Given the description of an element on the screen output the (x, y) to click on. 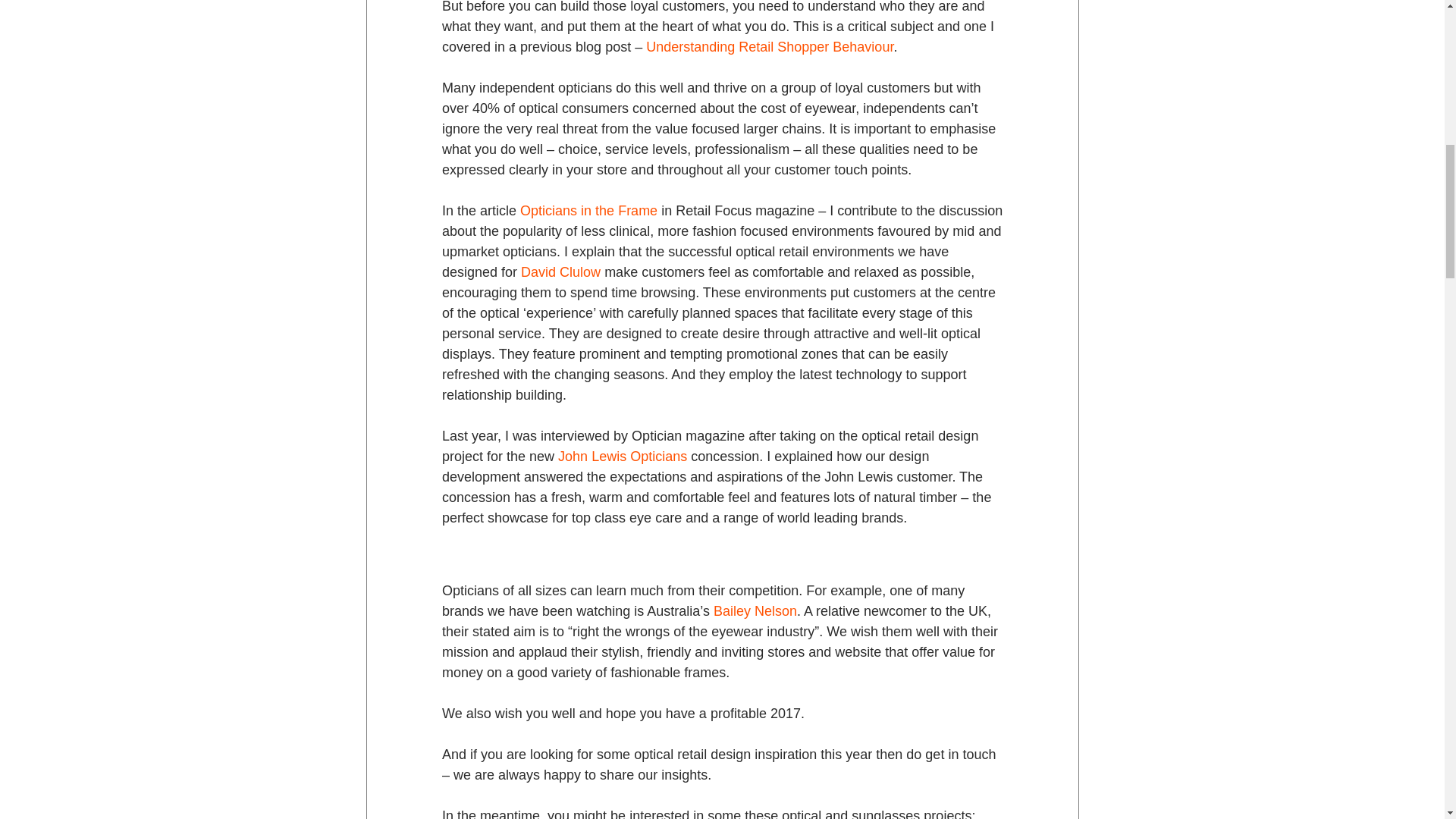
Bailey Nelson (754, 611)
John Lewis Opticians (622, 456)
Opticians in the Frame (588, 210)
David Clulow (560, 272)
Understanding Retail Shopper Behaviour (769, 46)
